Given the description of an element on the screen output the (x, y) to click on. 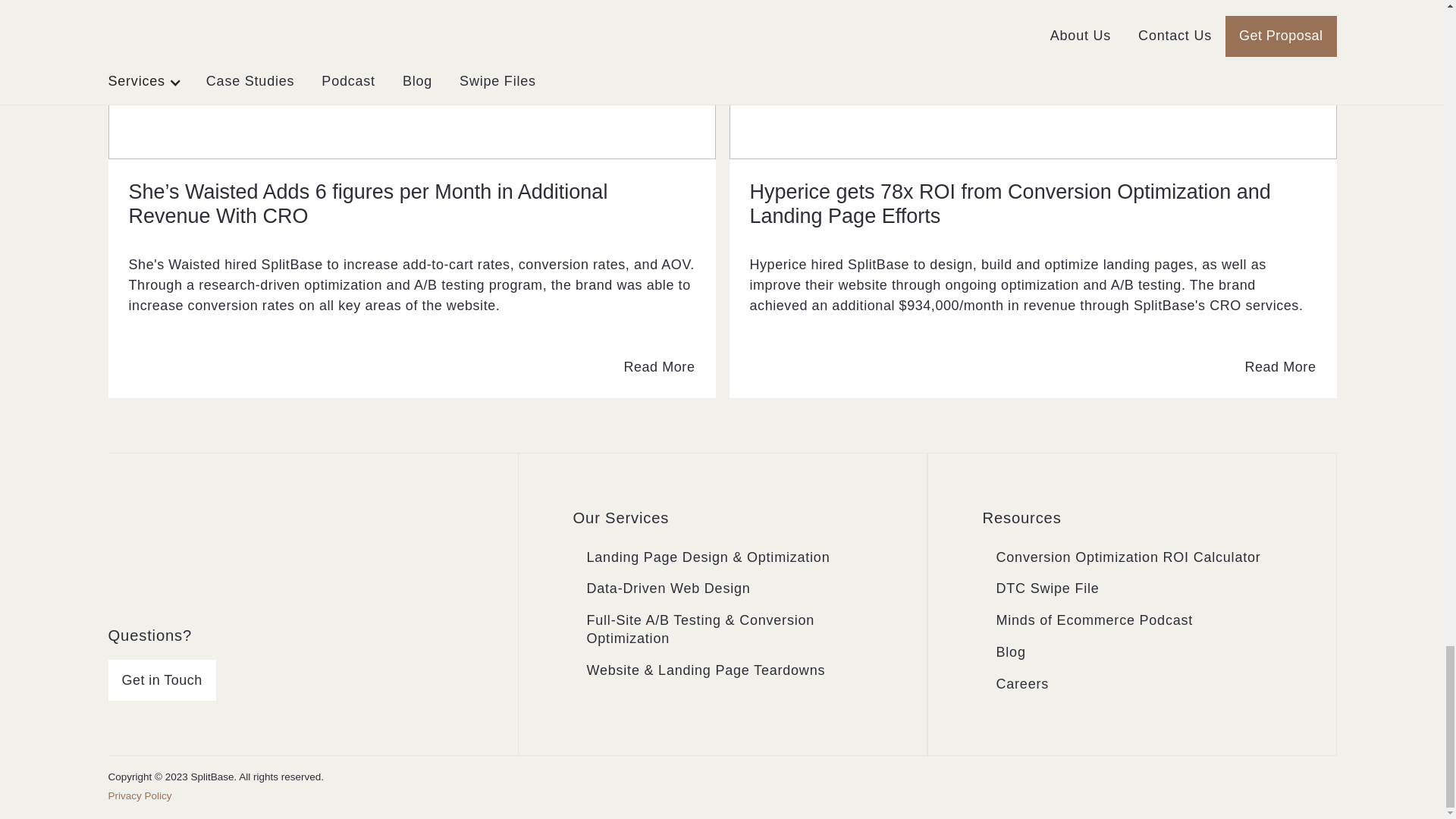
Careers (1022, 685)
Privacy Policy (139, 795)
DTC Swipe File (1047, 589)
Conversion Optimization ROI Calculator (1128, 558)
Minds of Ecommerce Podcast (1094, 621)
Blog (1010, 653)
Get in Touch (161, 680)
Data-Driven Web Design (668, 589)
